Given the description of an element on the screen output the (x, y) to click on. 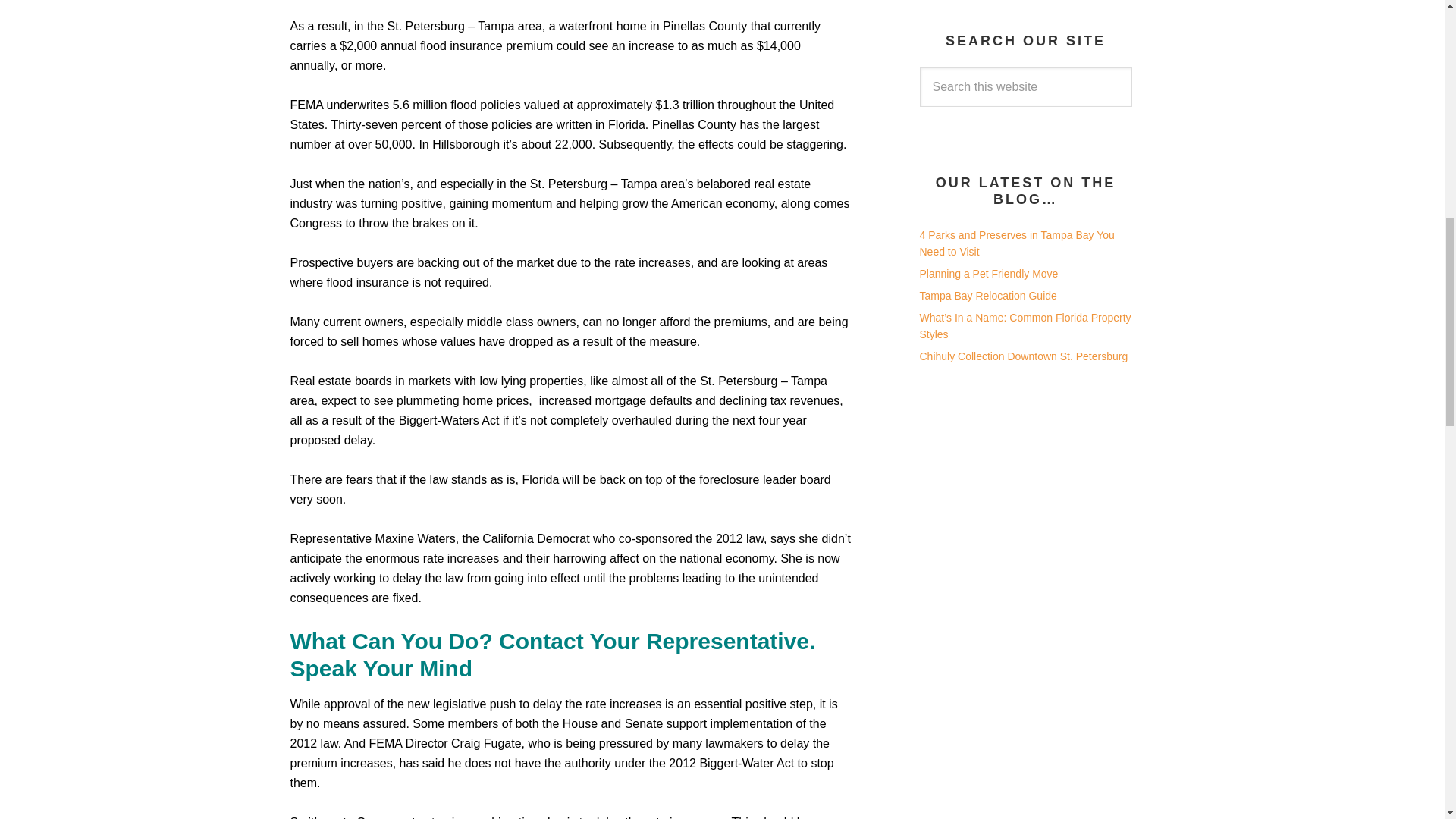
4 Parks and Preserves in Tampa Bay You Need to Visit (1015, 243)
Chihuly Collection Downtown St. Petersburg (1022, 356)
Planning a Pet Friendly Move (988, 273)
Tampa Bay Relocation Guide (987, 295)
